Given the description of an element on the screen output the (x, y) to click on. 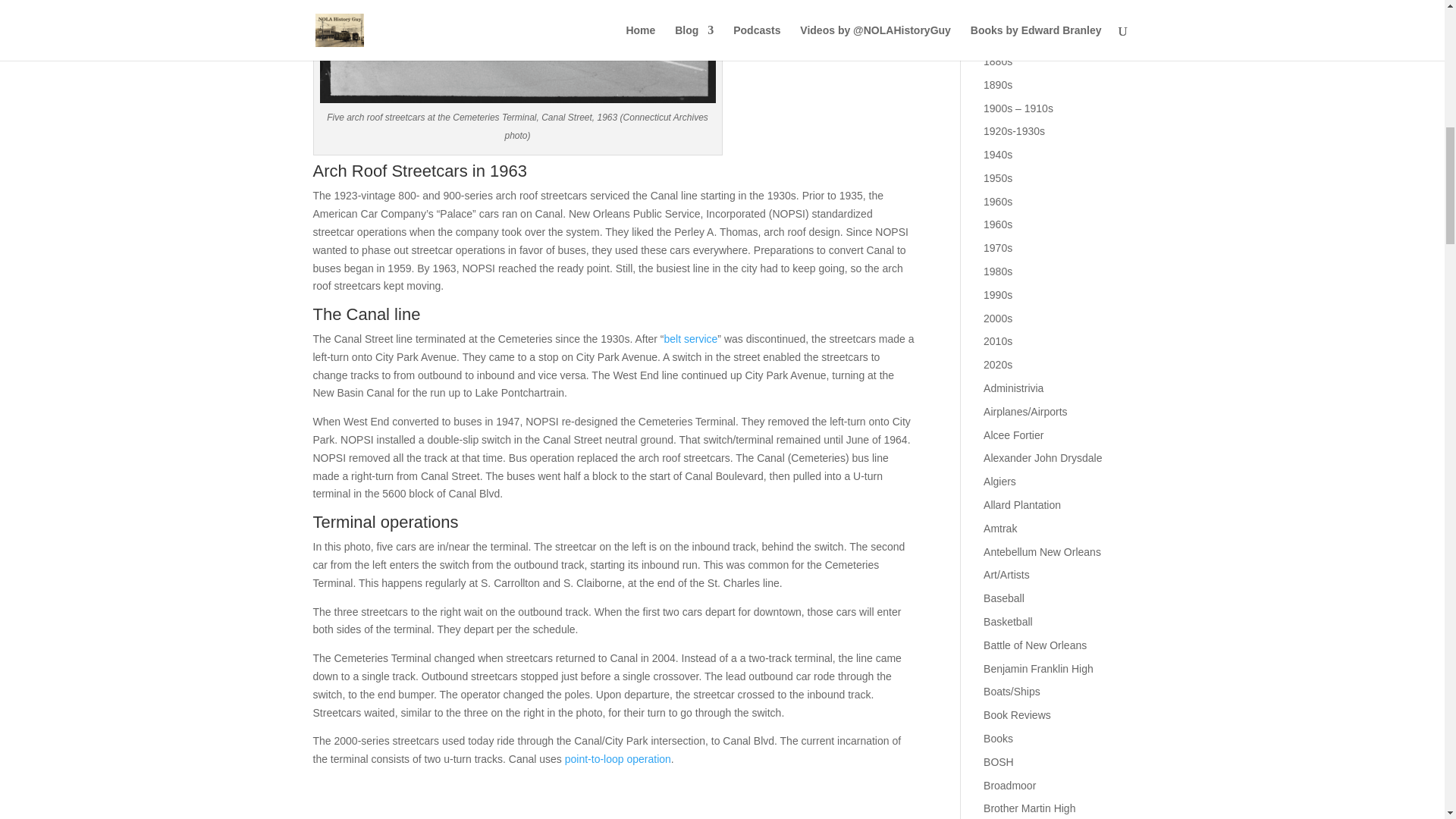
point-to-loop operation (617, 758)
belt service (690, 338)
1840s (997, 14)
